Given the description of an element on the screen output the (x, y) to click on. 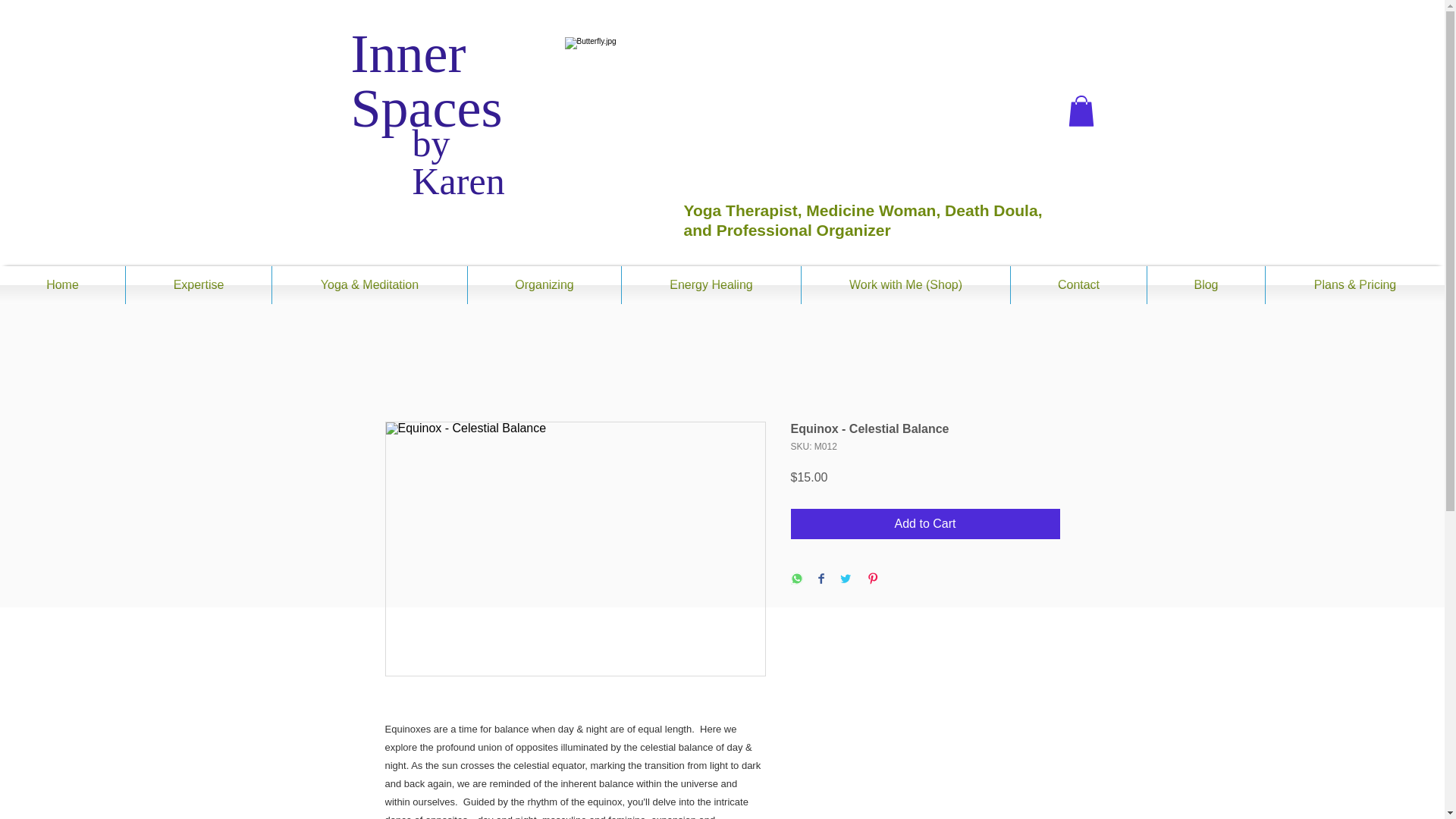
Blog (1206, 284)
Add to Cart (924, 523)
Contact (1078, 284)
Home (62, 284)
